Given the description of an element on the screen output the (x, y) to click on. 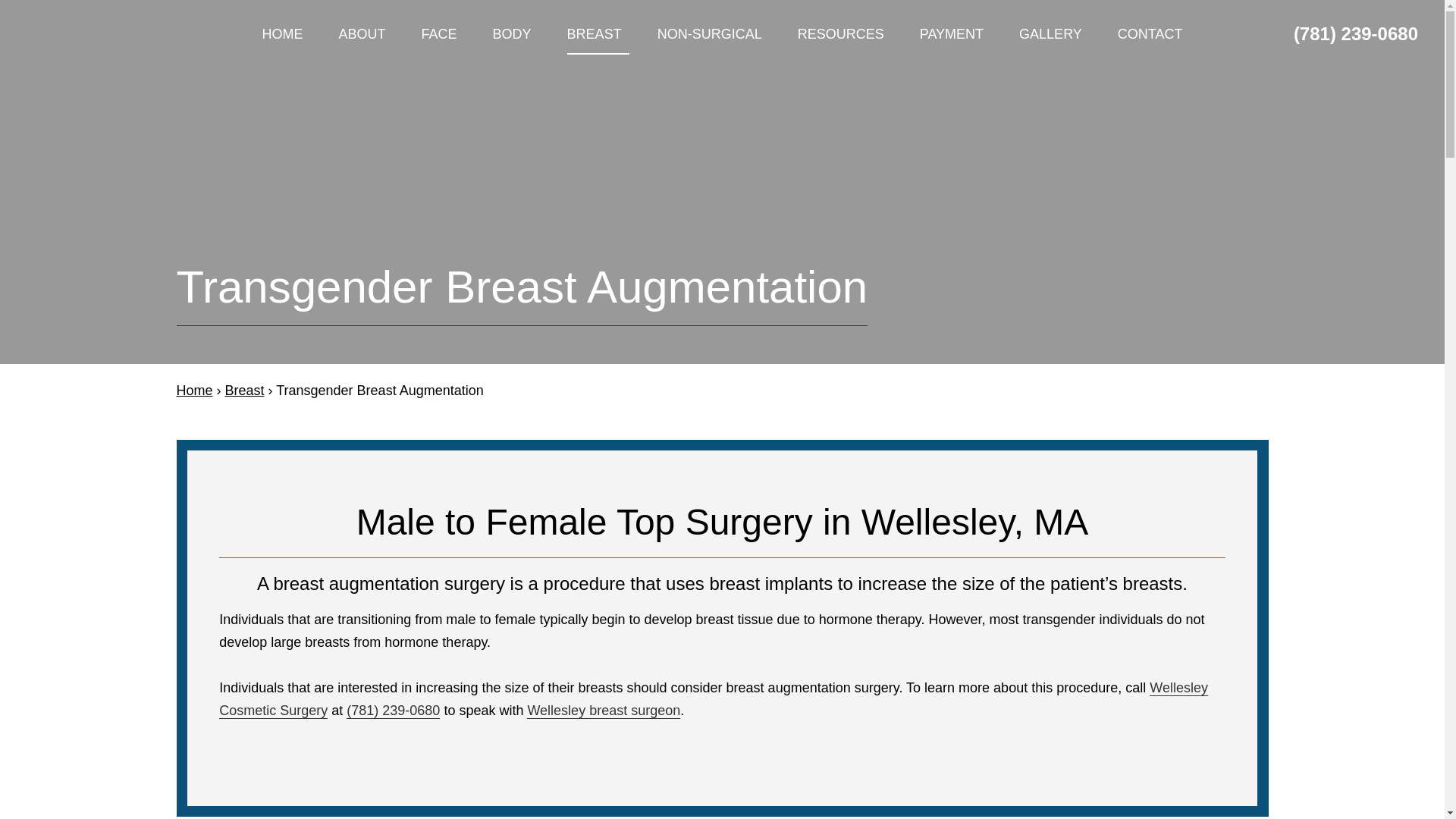
FACE (443, 34)
BREAST (597, 34)
RESOURCES (844, 34)
ABOUT (366, 34)
BODY (515, 34)
NON-SURGICAL (714, 34)
HOME (282, 34)
